Given the description of an element on the screen output the (x, y) to click on. 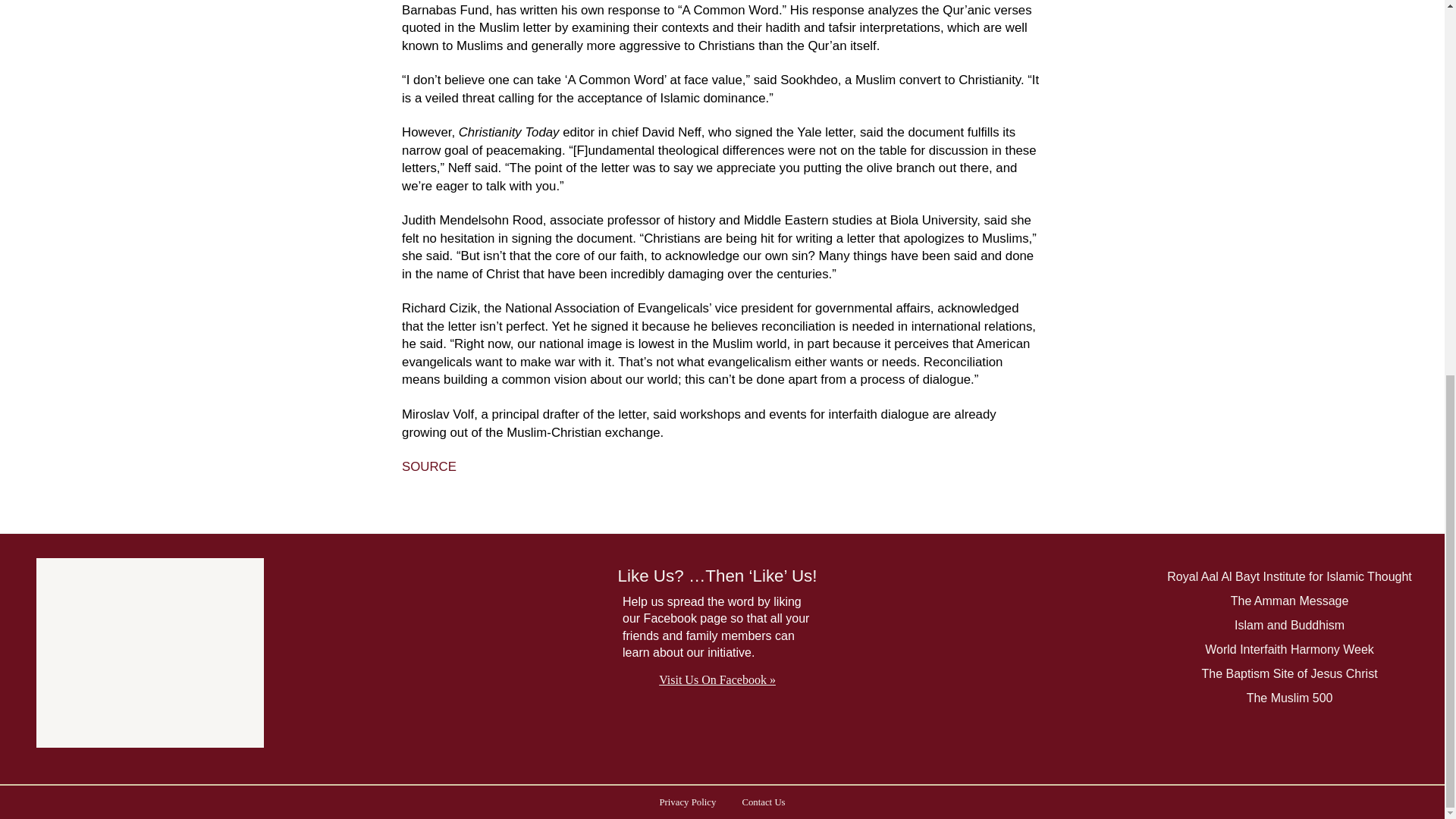
The Amman Message (1289, 601)
Islam and Buddhism (1288, 626)
World Interfaith Harmony Week (1288, 649)
The Muslim 500 (1289, 698)
The Baptism Site of Jesus Christ (1288, 674)
SOURCE (429, 466)
Royal Aal Al Bayt Institute for Islamic Thought (1288, 577)
